Given the description of an element on the screen output the (x, y) to click on. 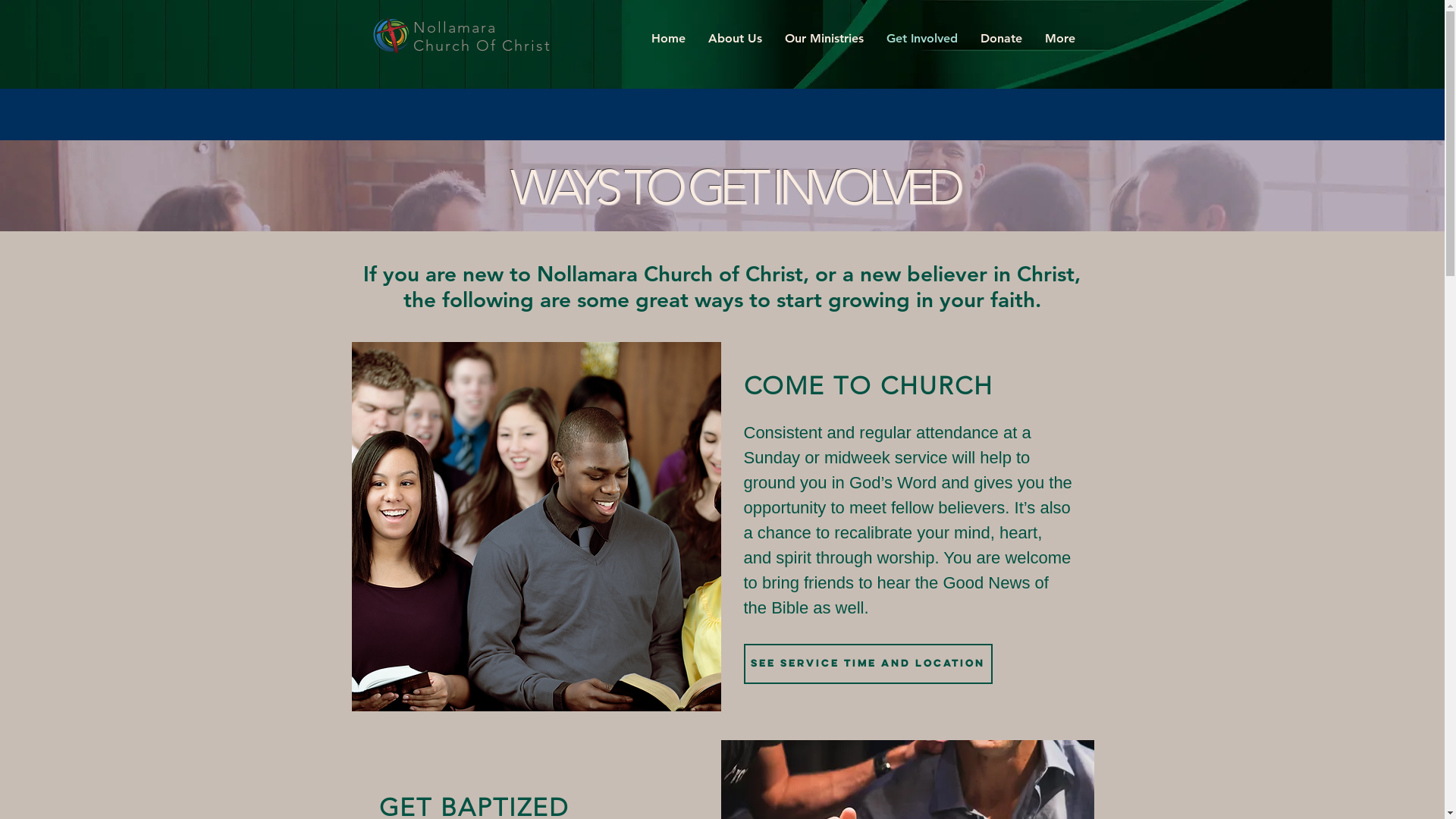
Donate Element type: text (1001, 38)
Our Ministries Element type: text (824, 38)
The Transparent Logo.png Element type: hover (388, 35)
See service time and location Element type: text (867, 663)
Get Involved Element type: text (922, 38)
Home Element type: text (668, 38)
